Given the description of an element on the screen output the (x, y) to click on. 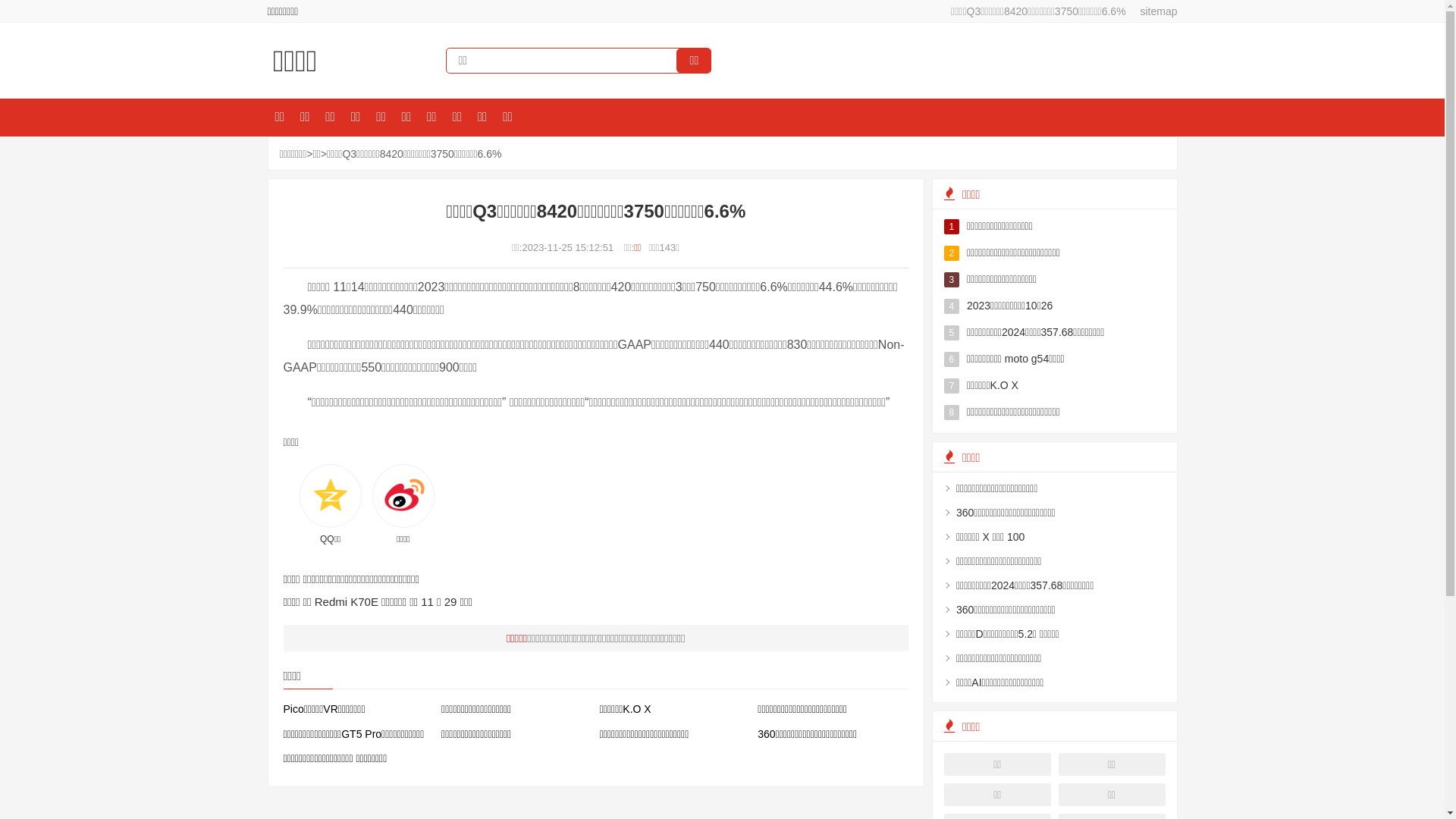
sitemap Element type: text (1152, 11)
